Given the description of an element on the screen output the (x, y) to click on. 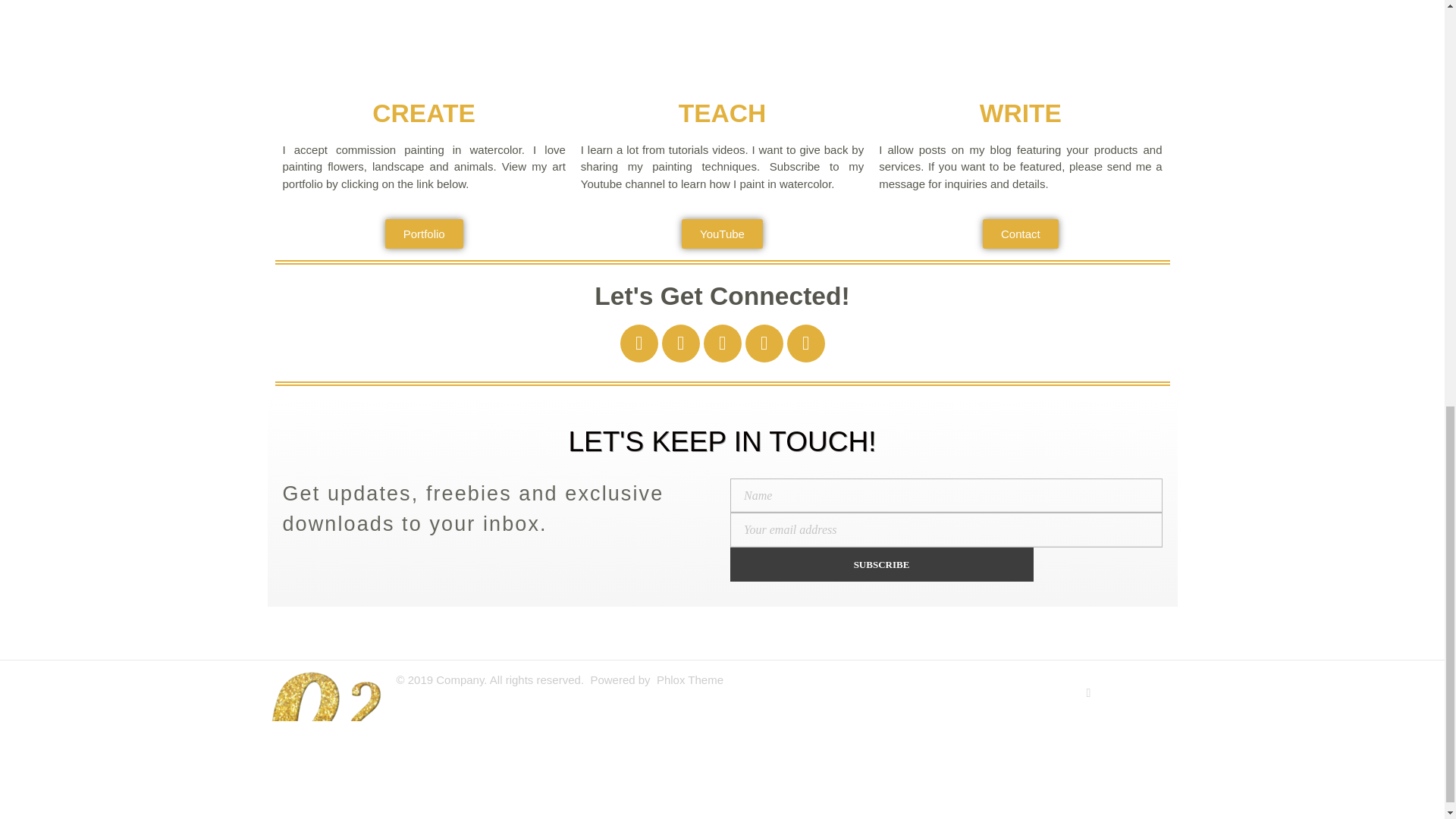
Portfolio (424, 233)
Contact (1020, 233)
YouTube (721, 233)
Subscribe (880, 564)
Subscribe (880, 564)
